Given the description of an element on the screen output the (x, y) to click on. 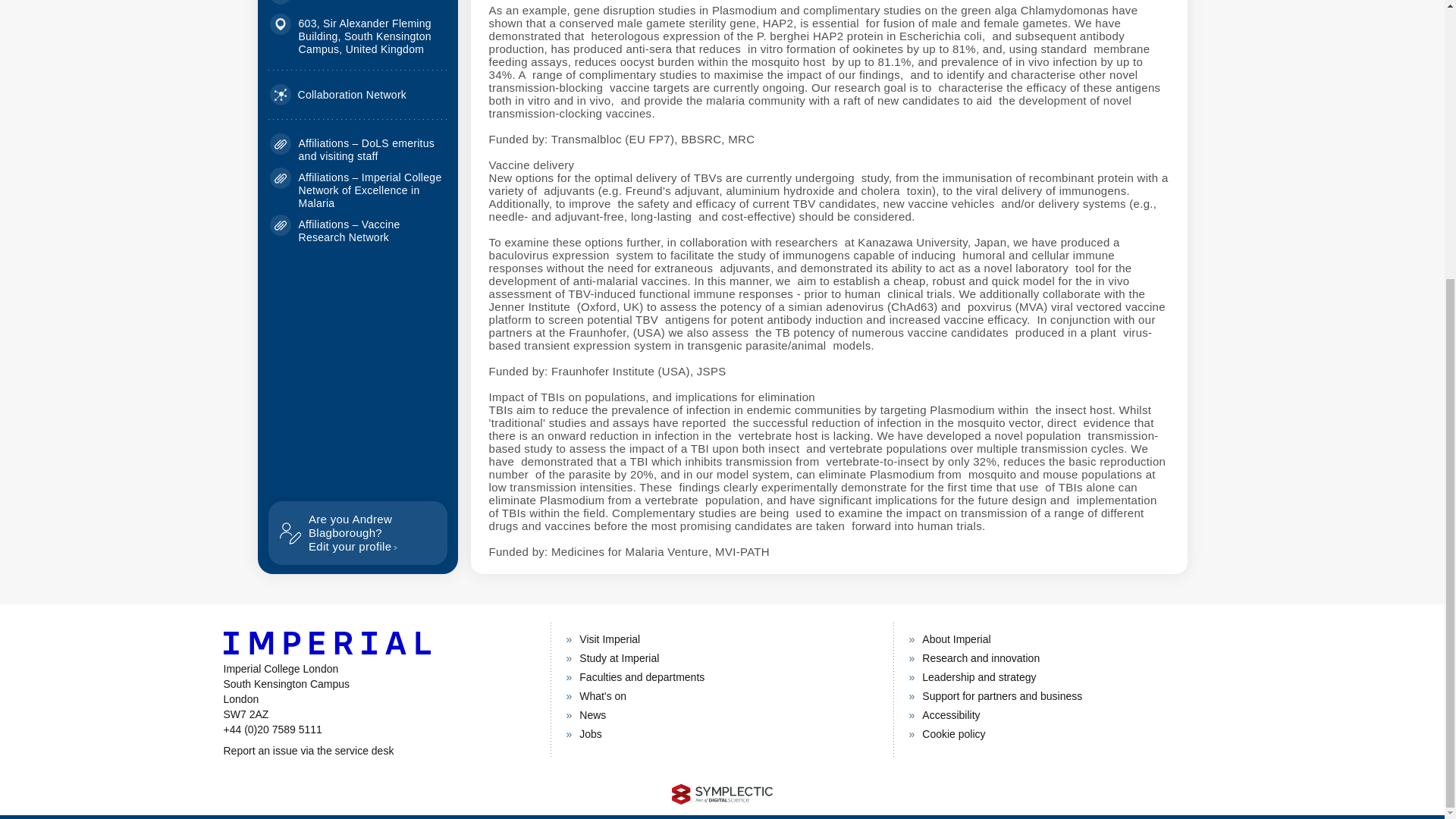
Report an issue via the service desk (378, 750)
Symplectic, part of Digital Science (356, 533)
Collaboration Network (722, 793)
Symplectic, part of Digital Science (338, 94)
